Given the description of an element on the screen output the (x, y) to click on. 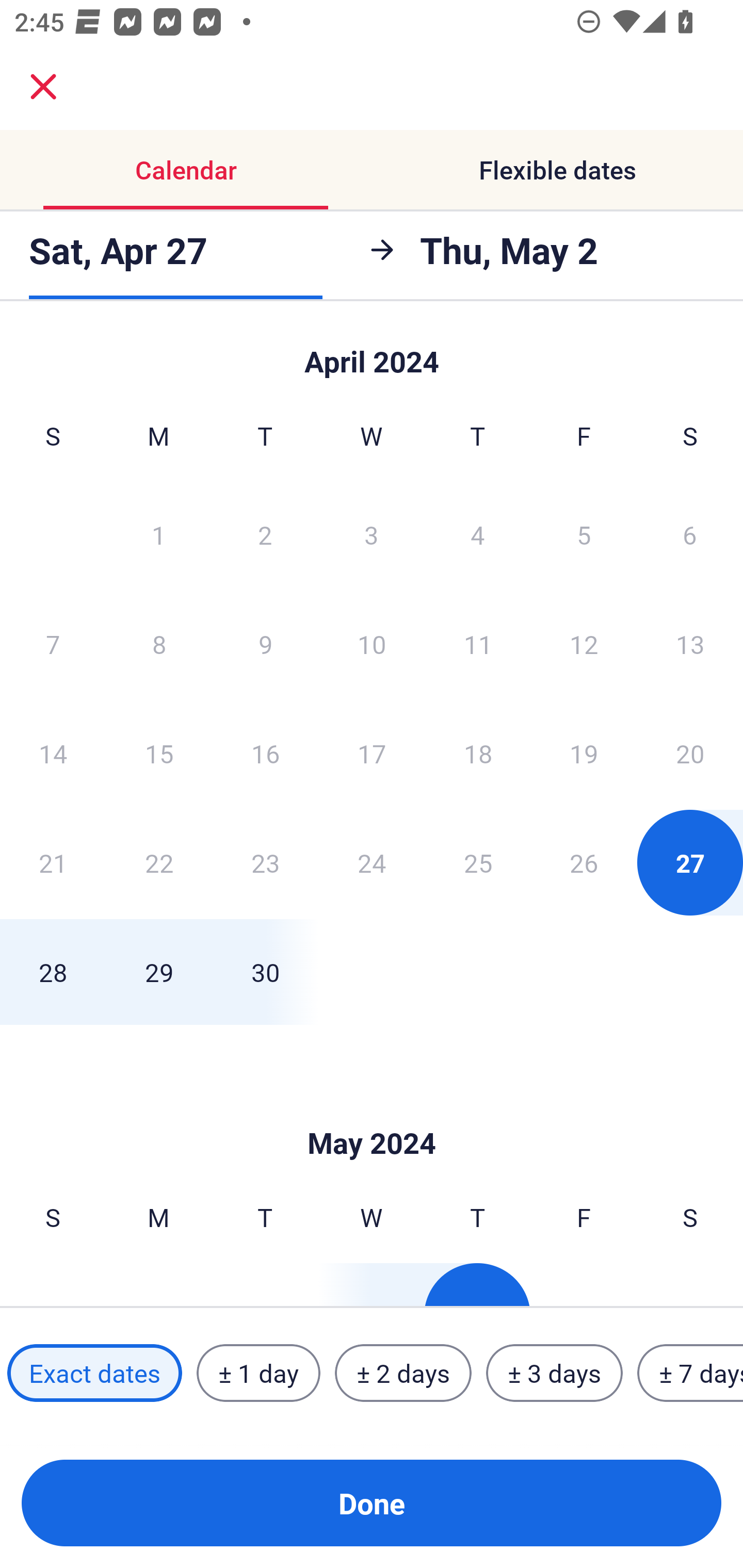
close. (43, 86)
Flexible dates (557, 170)
Skip to Done (371, 352)
1 Monday, April 1, 2024 (158, 534)
2 Tuesday, April 2, 2024 (264, 534)
3 Wednesday, April 3, 2024 (371, 534)
4 Thursday, April 4, 2024 (477, 534)
5 Friday, April 5, 2024 (583, 534)
6 Saturday, April 6, 2024 (689, 534)
7 Sunday, April 7, 2024 (53, 643)
8 Monday, April 8, 2024 (159, 643)
9 Tuesday, April 9, 2024 (265, 643)
10 Wednesday, April 10, 2024 (371, 643)
11 Thursday, April 11, 2024 (477, 643)
12 Friday, April 12, 2024 (584, 643)
13 Saturday, April 13, 2024 (690, 643)
14 Sunday, April 14, 2024 (53, 752)
15 Monday, April 15, 2024 (159, 752)
16 Tuesday, April 16, 2024 (265, 752)
17 Wednesday, April 17, 2024 (371, 752)
18 Thursday, April 18, 2024 (477, 752)
19 Friday, April 19, 2024 (584, 752)
20 Saturday, April 20, 2024 (690, 752)
21 Sunday, April 21, 2024 (53, 862)
22 Monday, April 22, 2024 (159, 862)
23 Tuesday, April 23, 2024 (265, 862)
24 Wednesday, April 24, 2024 (371, 862)
25 Thursday, April 25, 2024 (477, 862)
26 Friday, April 26, 2024 (584, 862)
Skip to Done (371, 1112)
Exact dates (94, 1372)
± 1 day (258, 1372)
± 2 days (403, 1372)
± 3 days (553, 1372)
± 7 days (690, 1372)
Done (371, 1502)
